Given the description of an element on the screen output the (x, y) to click on. 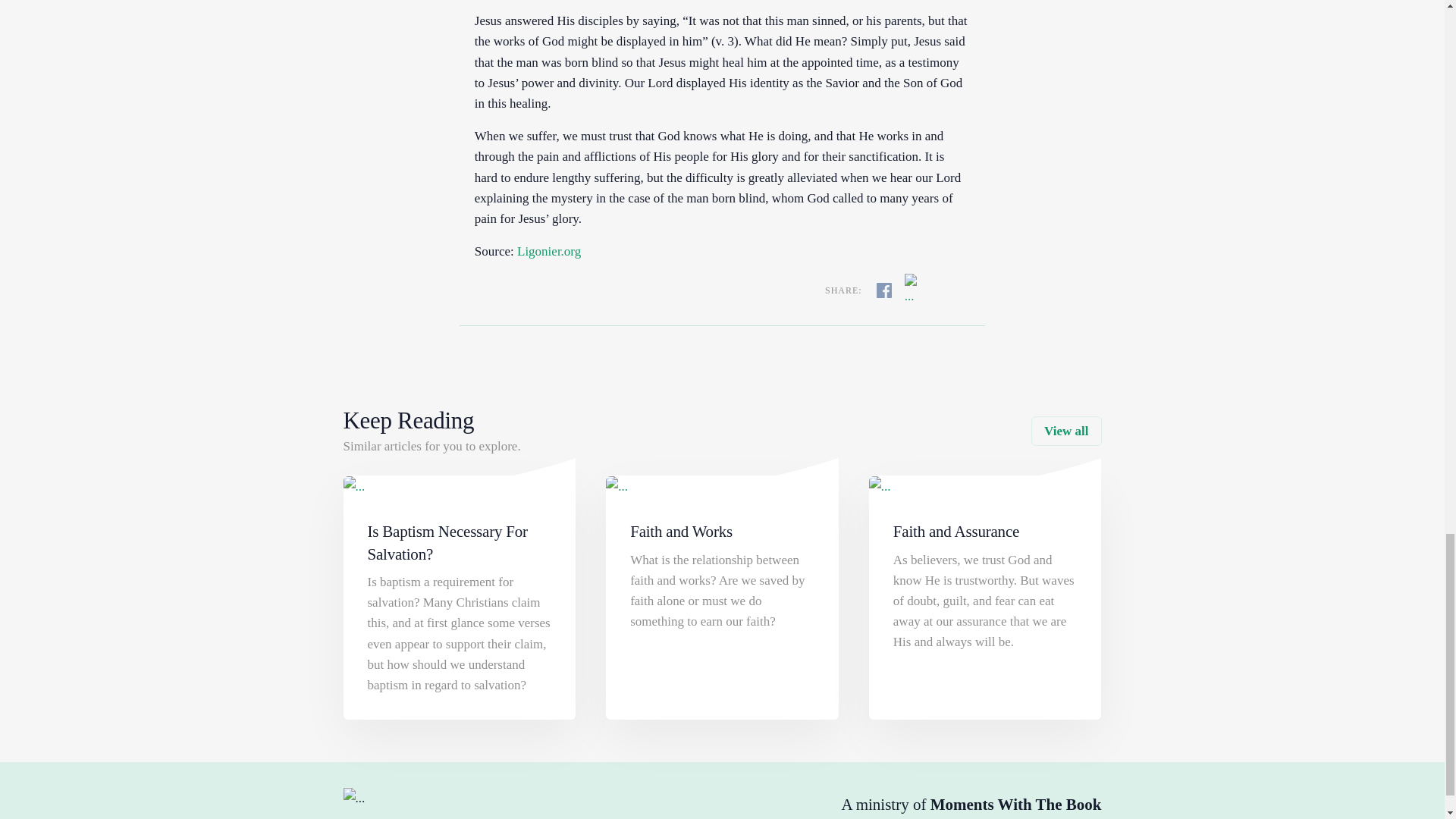
Suffering and the Glory of God (548, 251)
Moments With The Book (1016, 804)
Ligonier.org (548, 251)
View all (1065, 430)
